Given the description of an element on the screen output the (x, y) to click on. 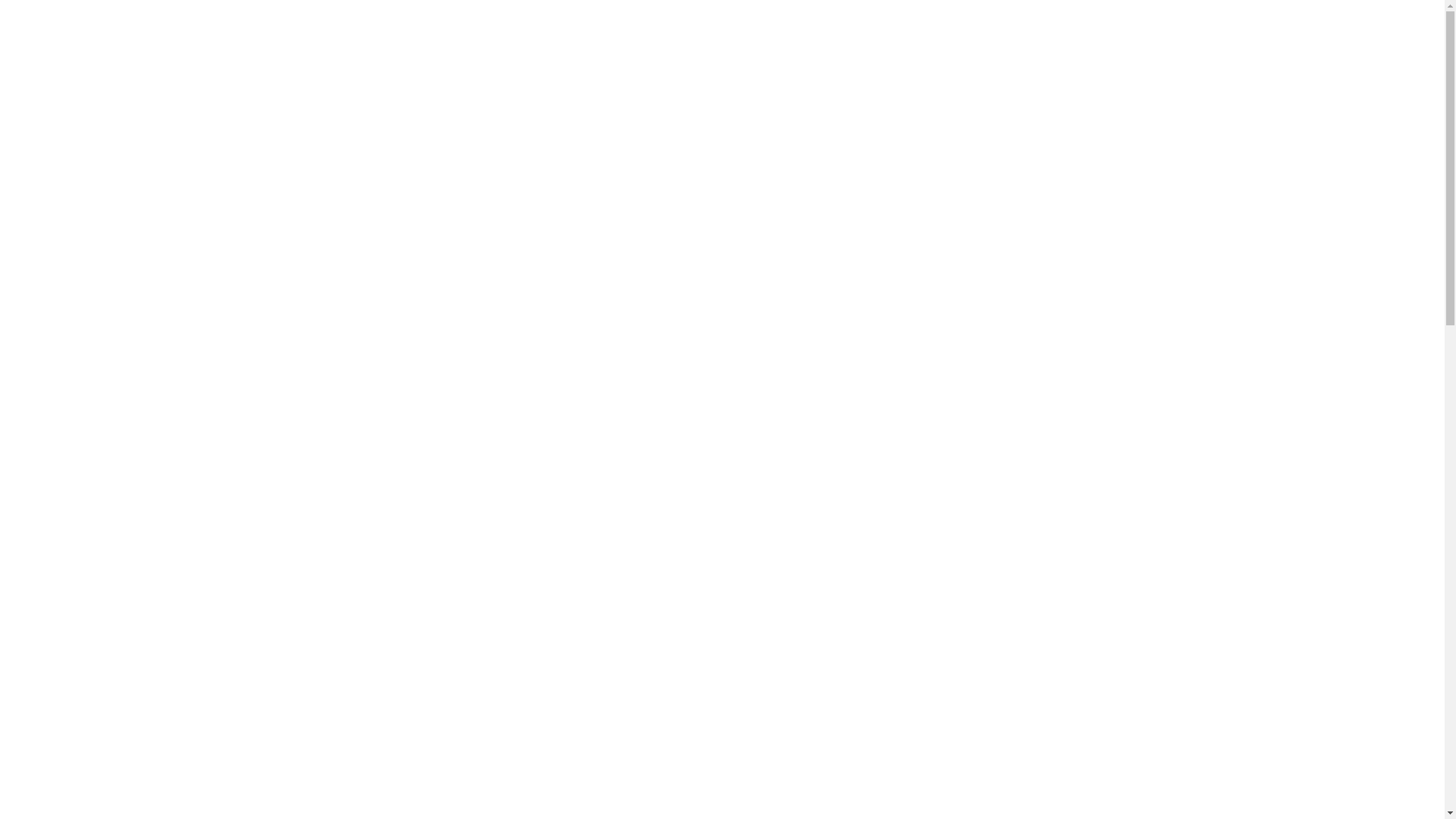
SERVICES Element type: text (737, 41)
GALLERY Element type: text (882, 41)
TESTIMONIALS Element type: text (975, 41)
EVENTS Element type: text (811, 41)
CONTACT Element type: text (1070, 41)
ABOUT US Element type: text (656, 41)
HOME Element type: text (586, 41)
